Given the description of an element on the screen output the (x, y) to click on. 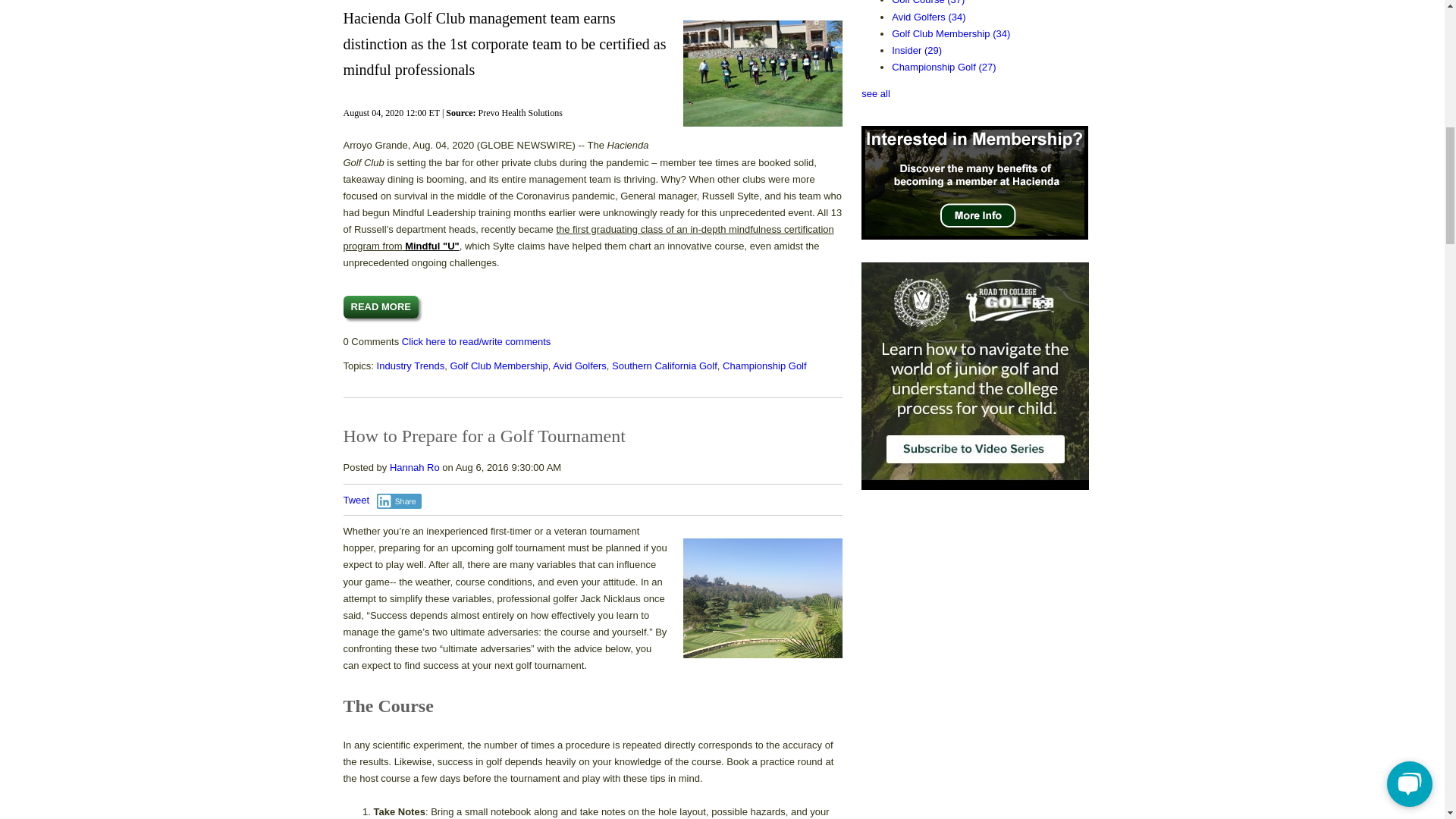
READ MORE (379, 306)
Golf Club Membership (498, 365)
Southern California Golf (664, 365)
Mindful "U" (432, 245)
Industry Trends (411, 365)
Avid Golfers (580, 365)
